Given the description of an element on the screen output the (x, y) to click on. 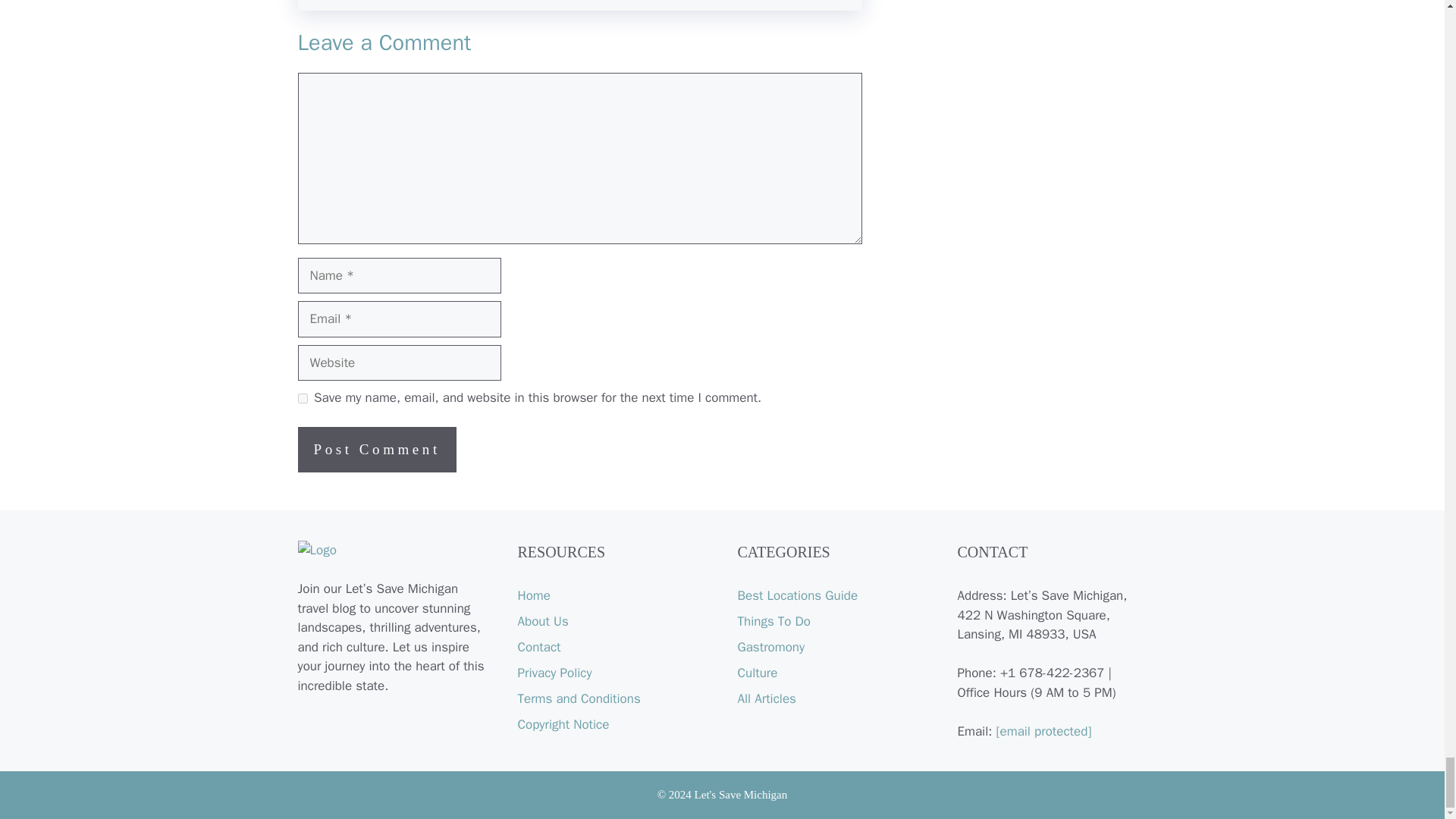
yes (302, 398)
Post Comment (376, 449)
